Given the description of an element on the screen output the (x, y) to click on. 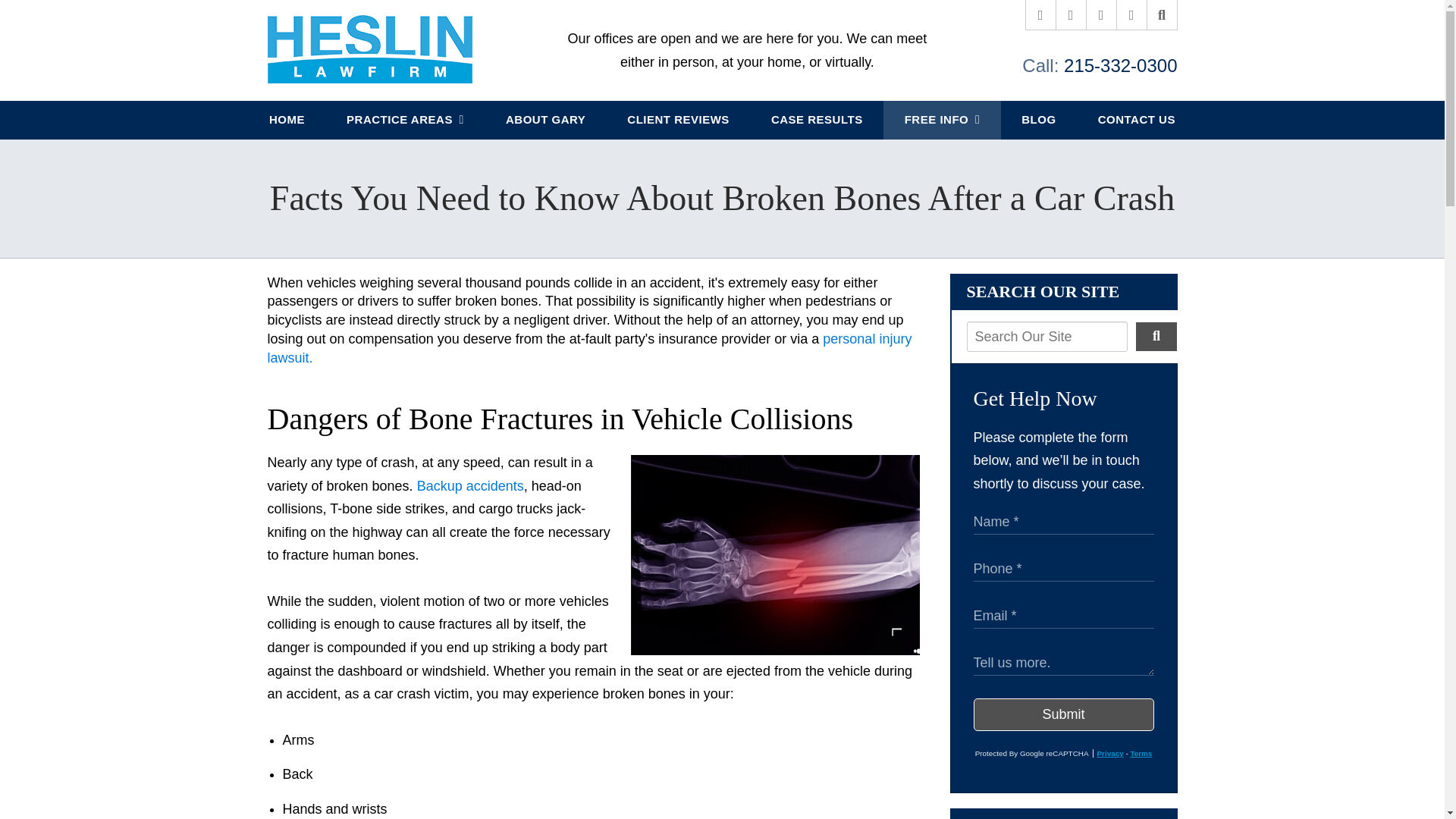
HOME (287, 119)
X-Ray of Broken Arm Car Crash Philadelphia (775, 555)
BLOG (1039, 119)
Search (1155, 336)
Twitter (1071, 15)
FREE INFO (942, 119)
ABOUT GARY (544, 119)
RSS Feed (1131, 15)
PRACTICE AREAS (405, 119)
Facebook (1040, 15)
CASE RESULTS (816, 119)
YouTube (1101, 15)
CLIENT REVIEWS (679, 119)
Search (1161, 15)
